Given the description of an element on the screen output the (x, y) to click on. 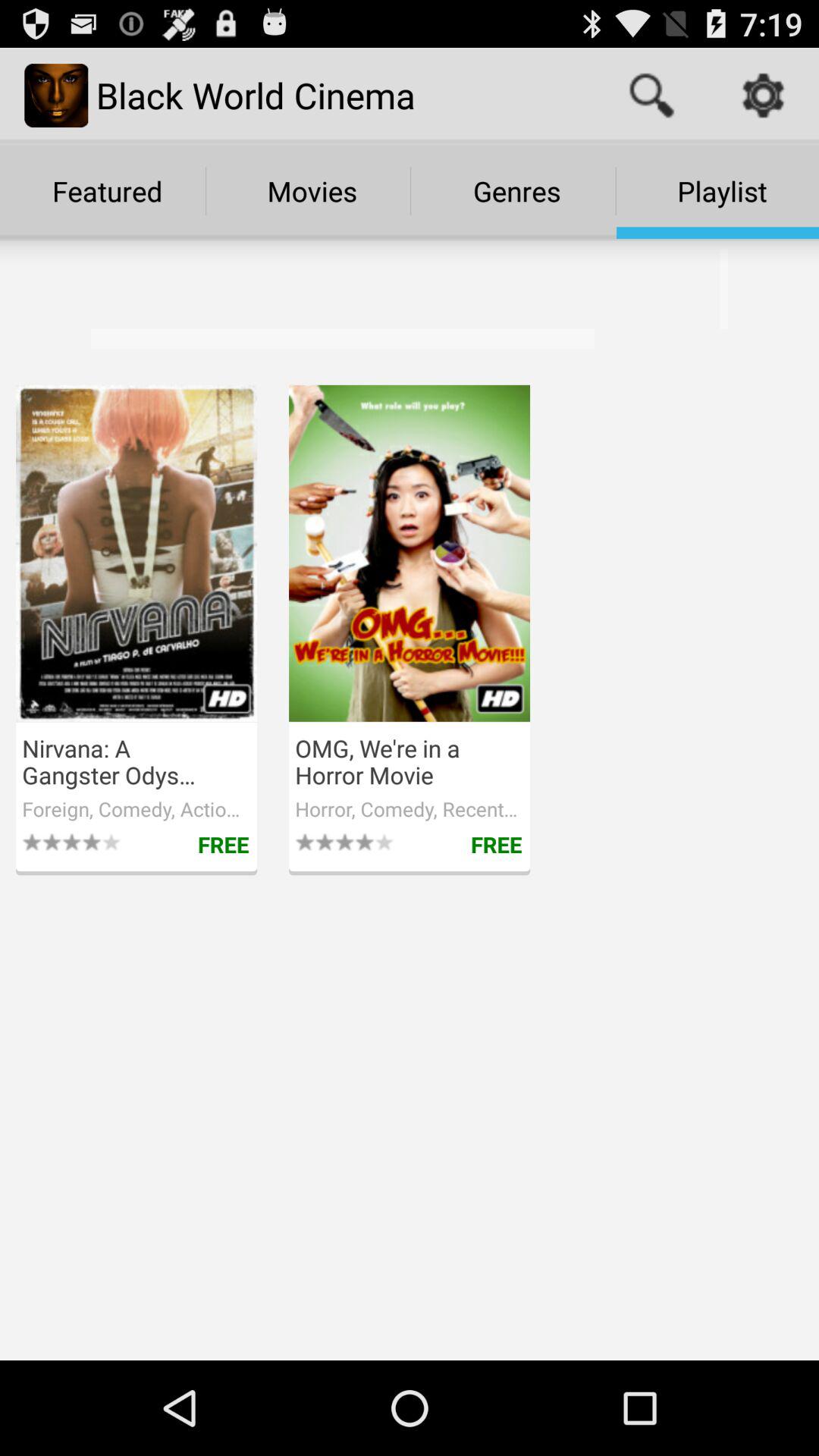
click the app above playlist item (651, 95)
